Given the description of an element on the screen output the (x, y) to click on. 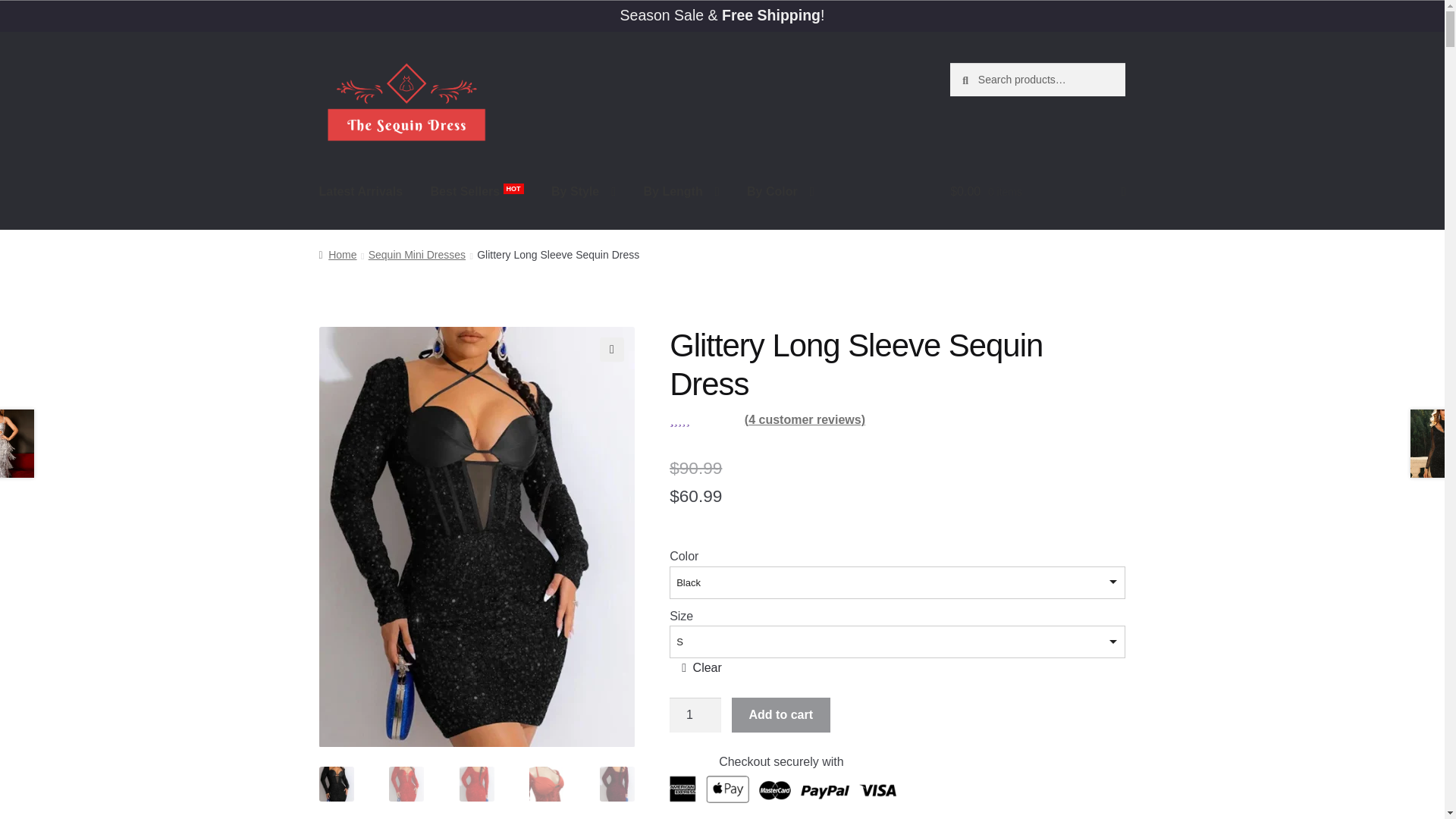
By Color (781, 191)
1 (694, 714)
Latest Arrivals (360, 191)
By Style (582, 191)
By Length (680, 191)
View your shopping cart (1037, 191)
Best Sellers HOT (477, 191)
